Given the description of an element on the screen output the (x, y) to click on. 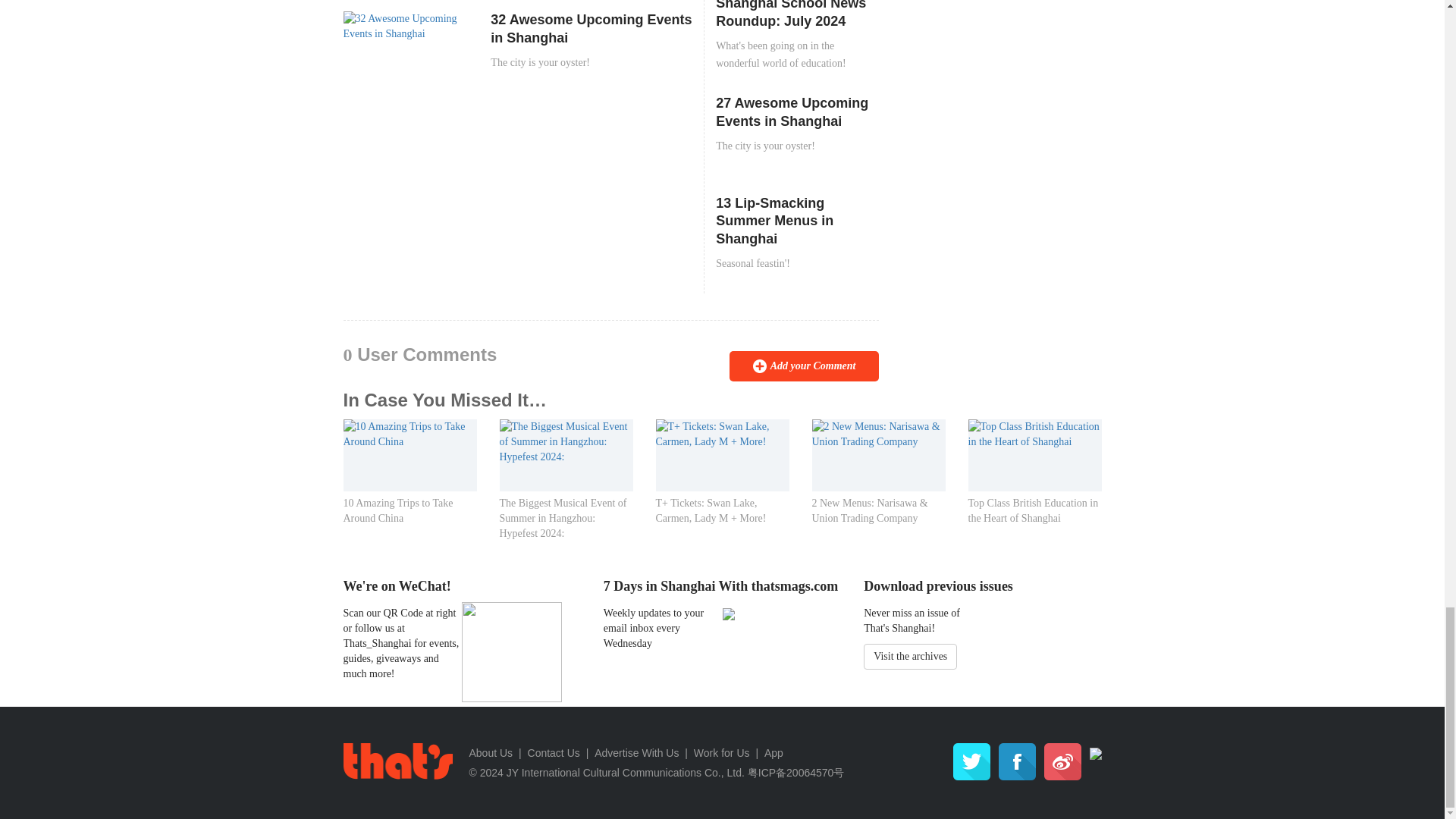
10 Amazing Trips to Take Around China (409, 432)
Top Class British Education in the Heart of Shanghai (1034, 432)
